Given the description of an element on the screen output the (x, y) to click on. 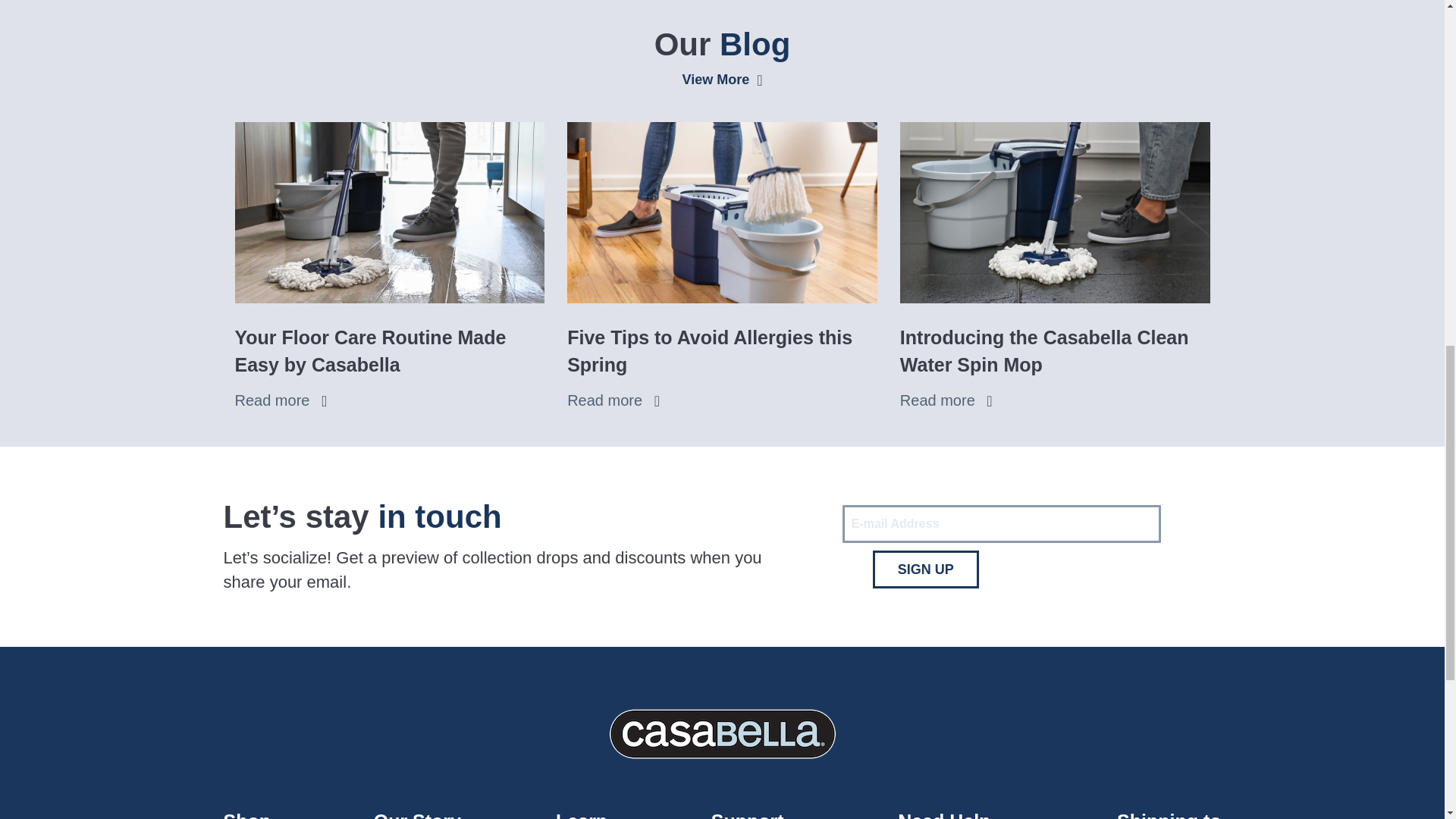
Your Floor Care Routine Made Easy by Casabella (389, 212)
Five Tips to Avoid Allergies this Spring (722, 212)
Five Tips to Avoid Allergies this Spring (722, 400)
Your Floor Care Routine Made Easy by Casabella (389, 400)
